Given the description of an element on the screen output the (x, y) to click on. 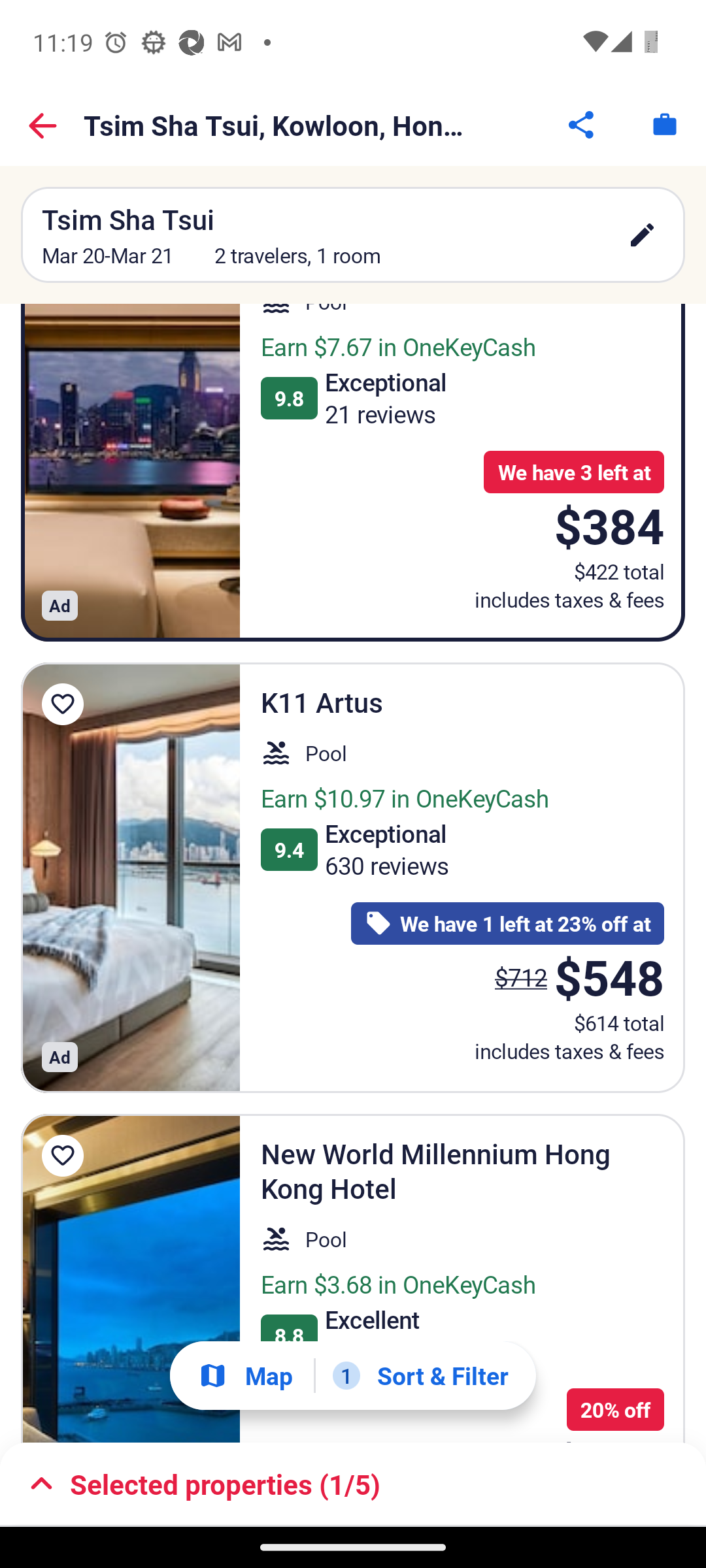
Share Button (582, 124)
Trips. Button (664, 124)
Regent Hong Kong (130, 472)
K11 Artus (130, 876)
Save K11 Artus to a trip (62, 703)
$712 The price was $712 (520, 977)
New World Millennium Hong Kong Hotel (130, 1277)
1 Sort & Filter 1 Filter applied. Filters Button (420, 1374)
Show map Map Show map Button (244, 1375)
